Given the description of an element on the screen output the (x, y) to click on. 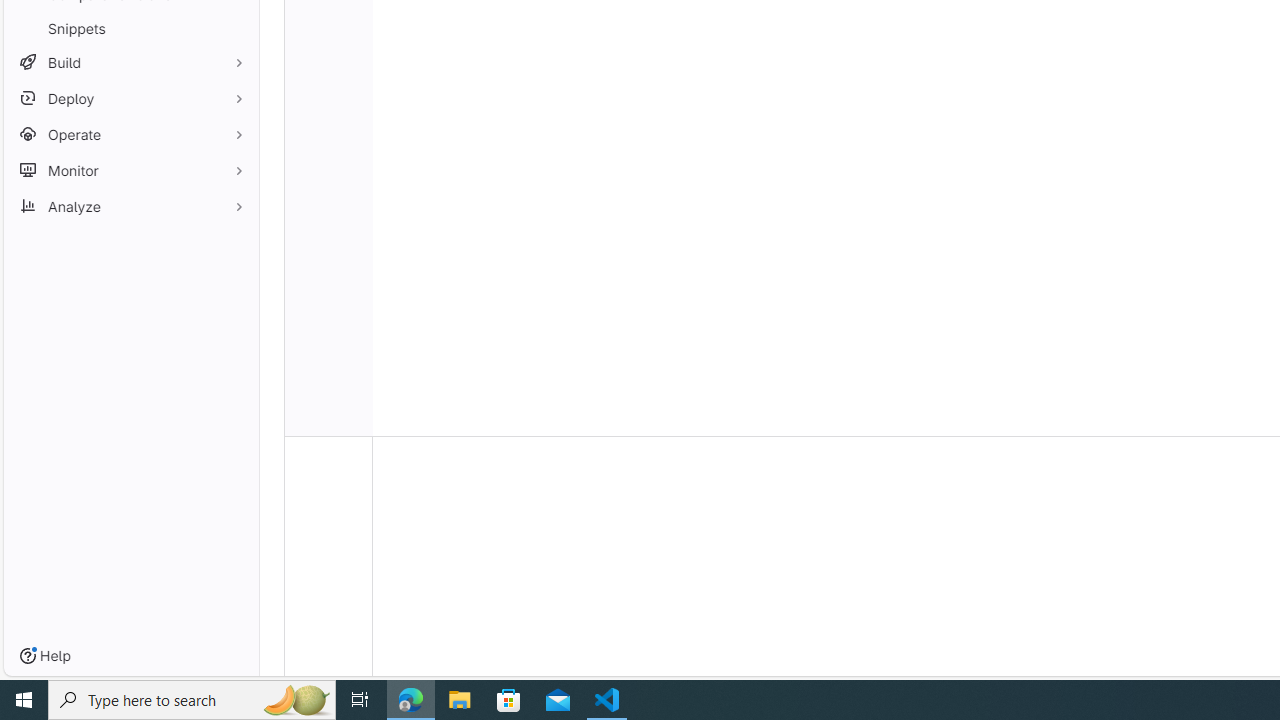
Snippets (130, 28)
Operate (130, 134)
Pin Snippets (234, 28)
Class: notes_line old (328, 576)
Monitor (130, 170)
Deploy (130, 98)
Deploy (130, 98)
Monitor (130, 170)
Analyze (130, 206)
Build (130, 62)
Analyze (130, 206)
Class: old_line diff-line-num empty-cell (328, 425)
Operate (130, 134)
Build (130, 62)
